Given the description of an element on the screen output the (x, y) to click on. 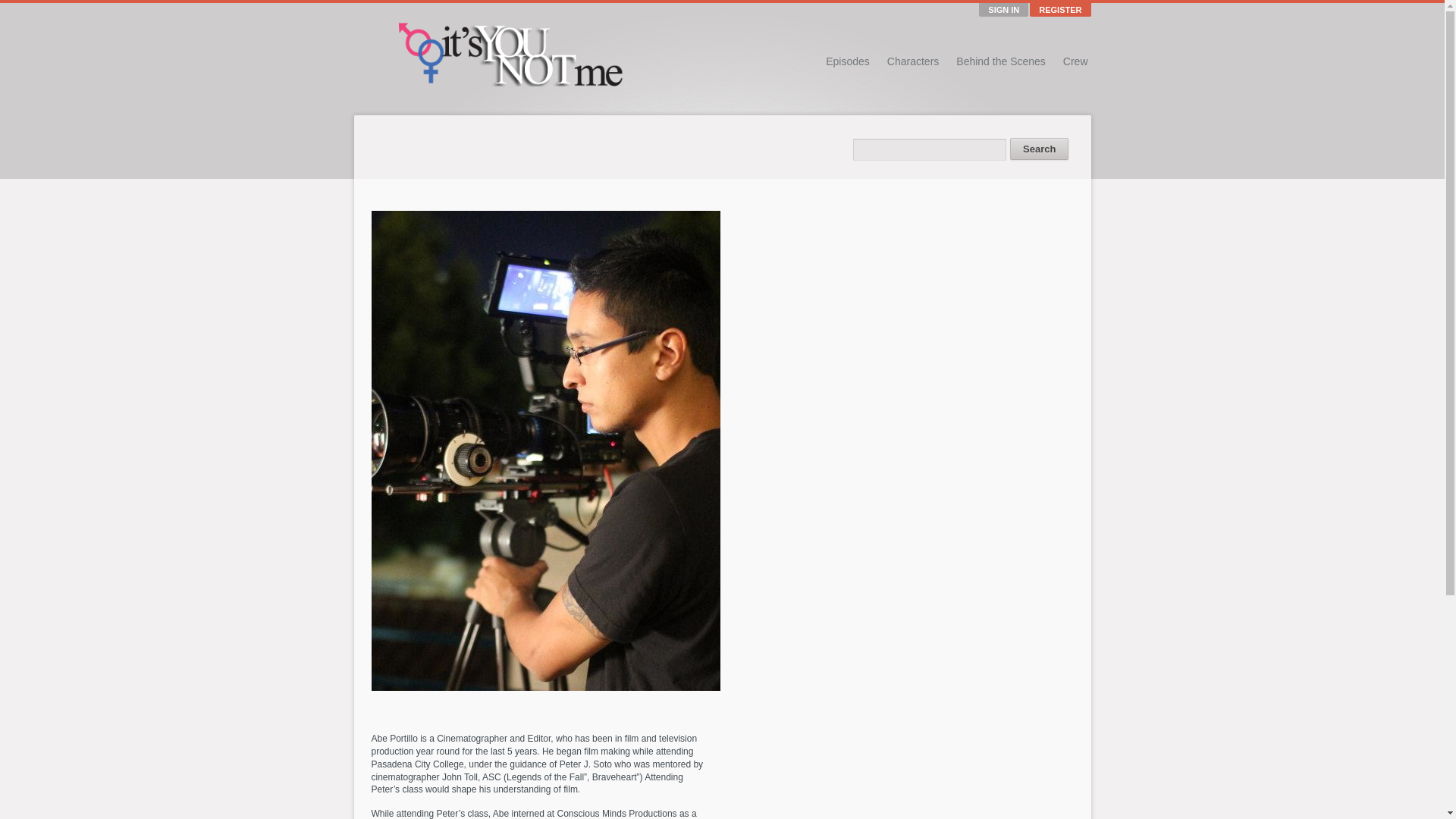
REGISTER (1059, 9)
Crew (1075, 61)
Search (1039, 148)
Search (1039, 148)
SIGN IN (1002, 9)
Episodes (846, 61)
Behind the Scenes (1000, 61)
Characters (913, 61)
